Given the description of an element on the screen output the (x, y) to click on. 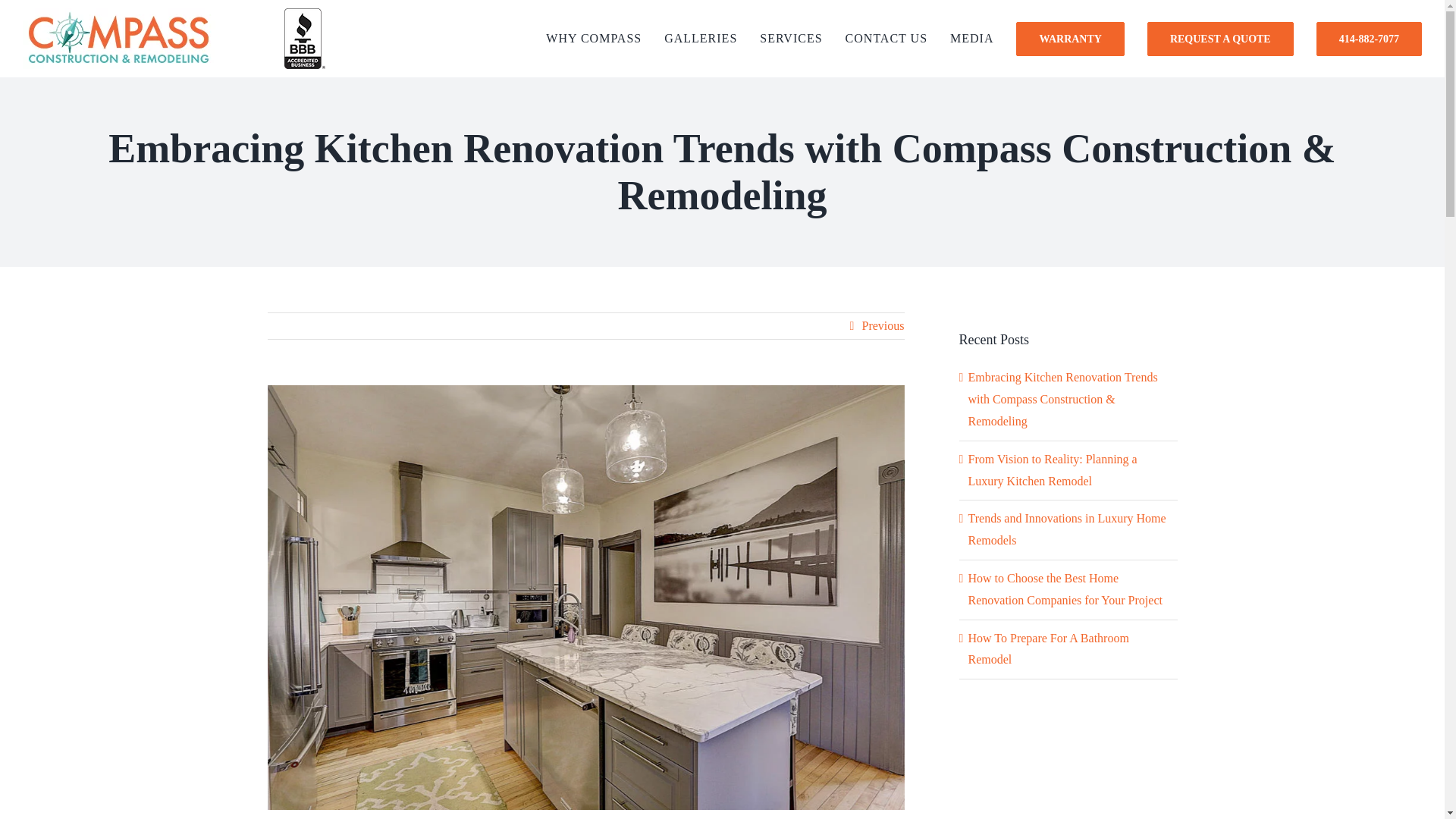
SERVICES (791, 38)
WHY COMPASS (594, 38)
WARRANTY (1070, 38)
GALLERIES (699, 38)
MEDIA (971, 38)
414-882-7077 (1369, 38)
CONTACT US (886, 38)
REQUEST A QUOTE (1220, 38)
